Given the description of an element on the screen output the (x, y) to click on. 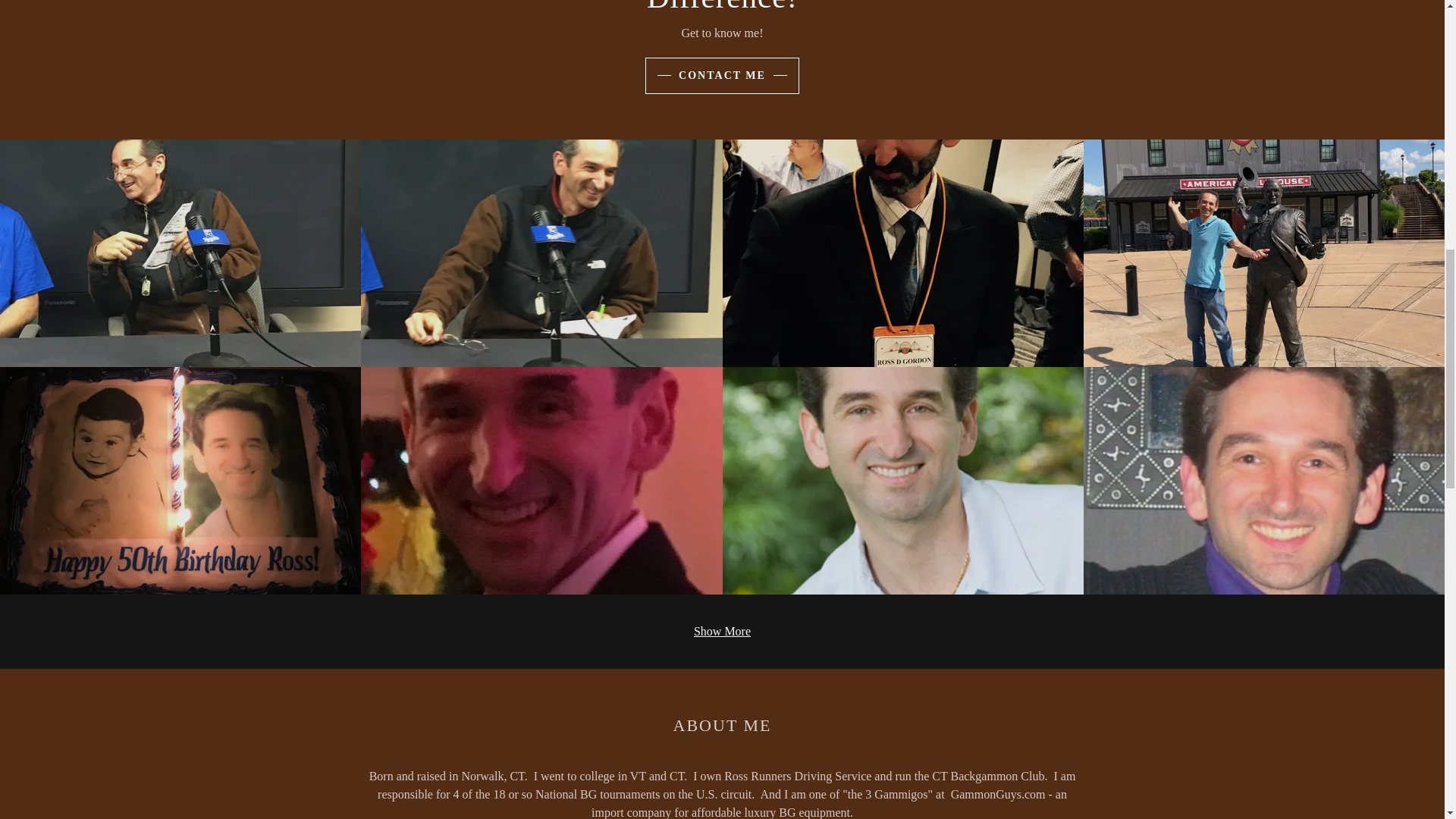
CONTACT ME (722, 75)
Show More (722, 631)
